Given the description of an element on the screen output the (x, y) to click on. 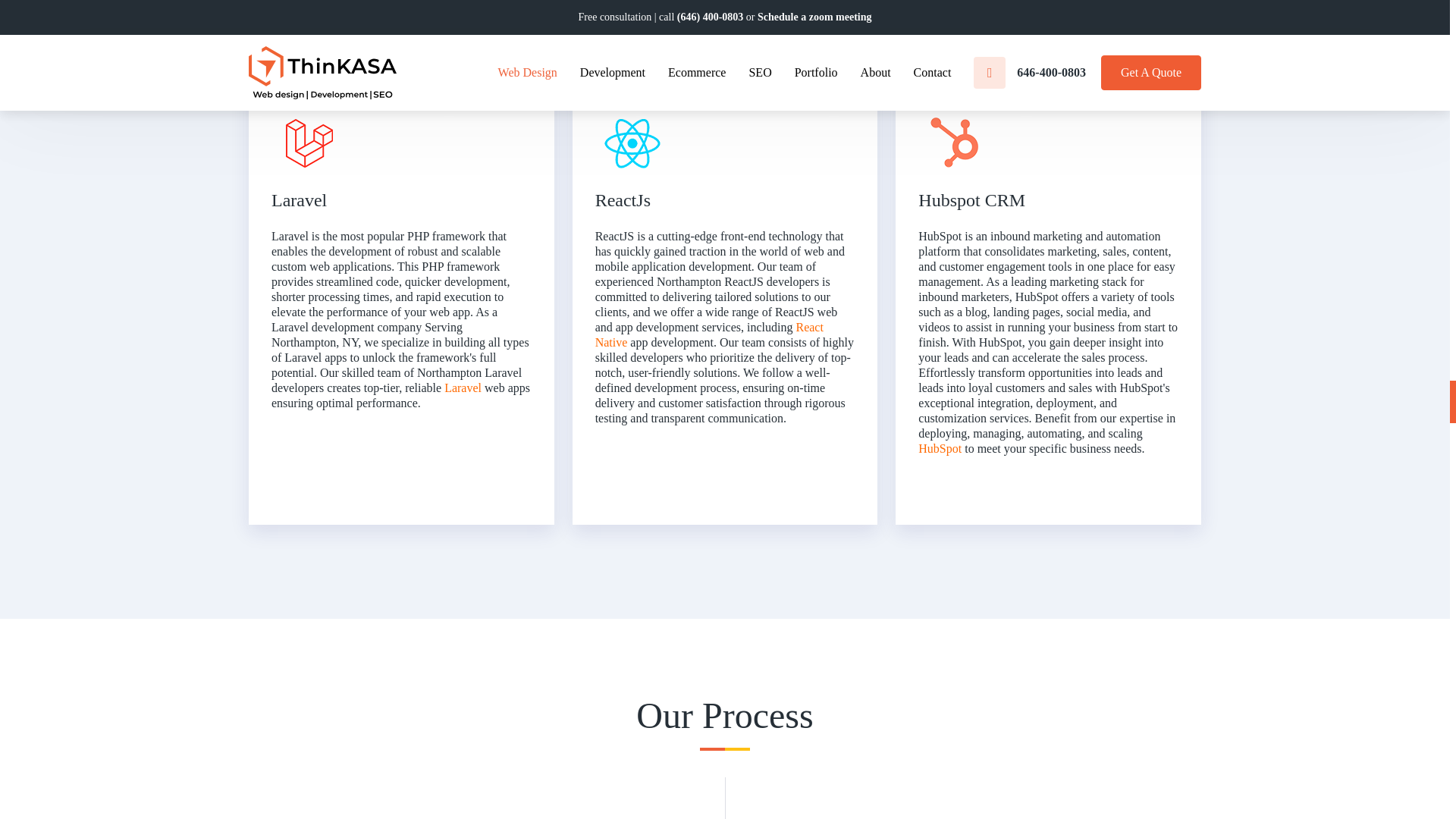
HubSpot (939, 448)
Laravel (462, 387)
React Native (709, 334)
